Given the description of an element on the screen output the (x, y) to click on. 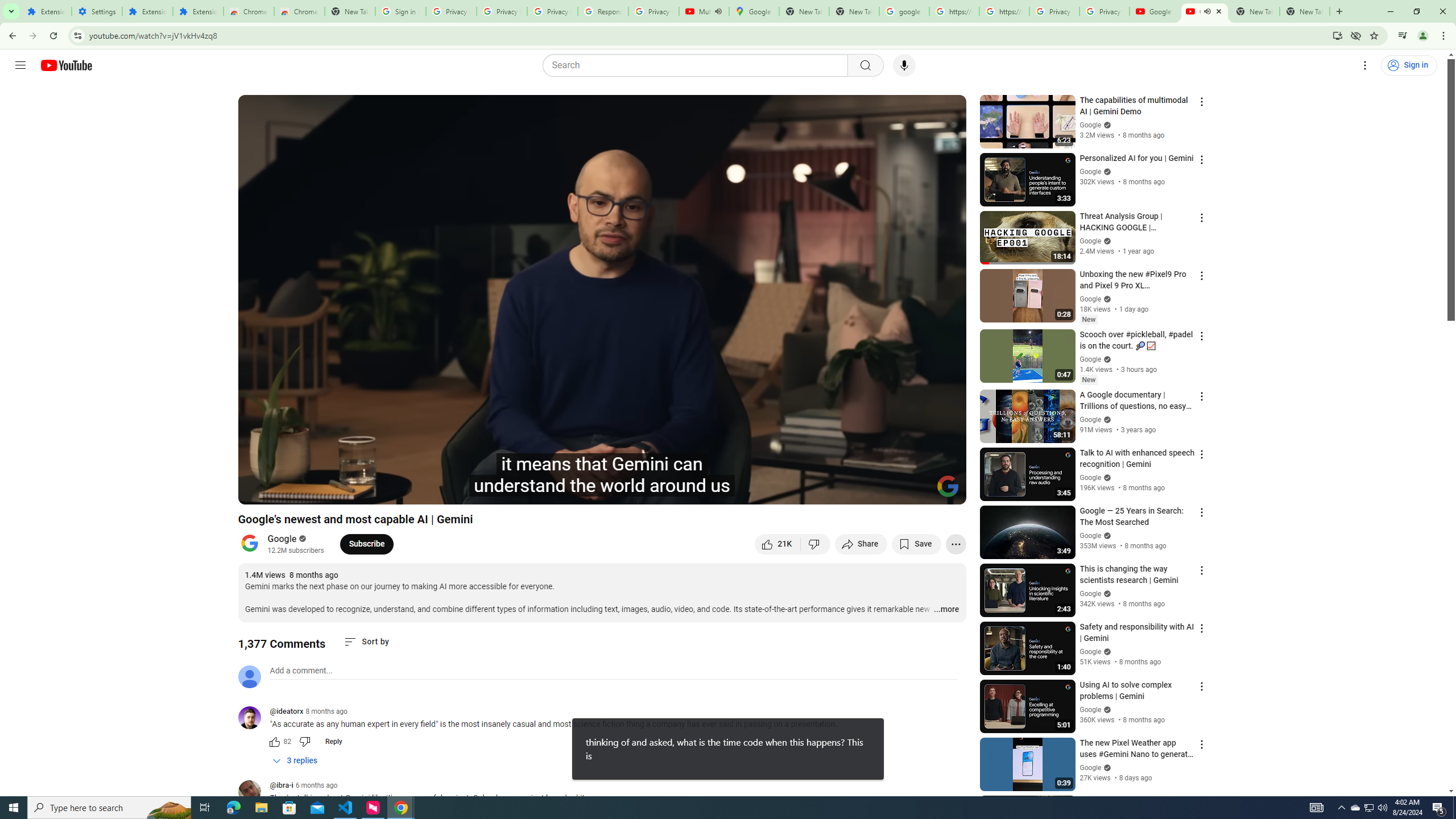
...more (946, 609)
@ibra-i (253, 792)
YouTube Home (66, 65)
Theater mode (t) (917, 490)
Install YouTube (1336, 35)
Dislike this video (815, 543)
